Given the description of an element on the screen output the (x, y) to click on. 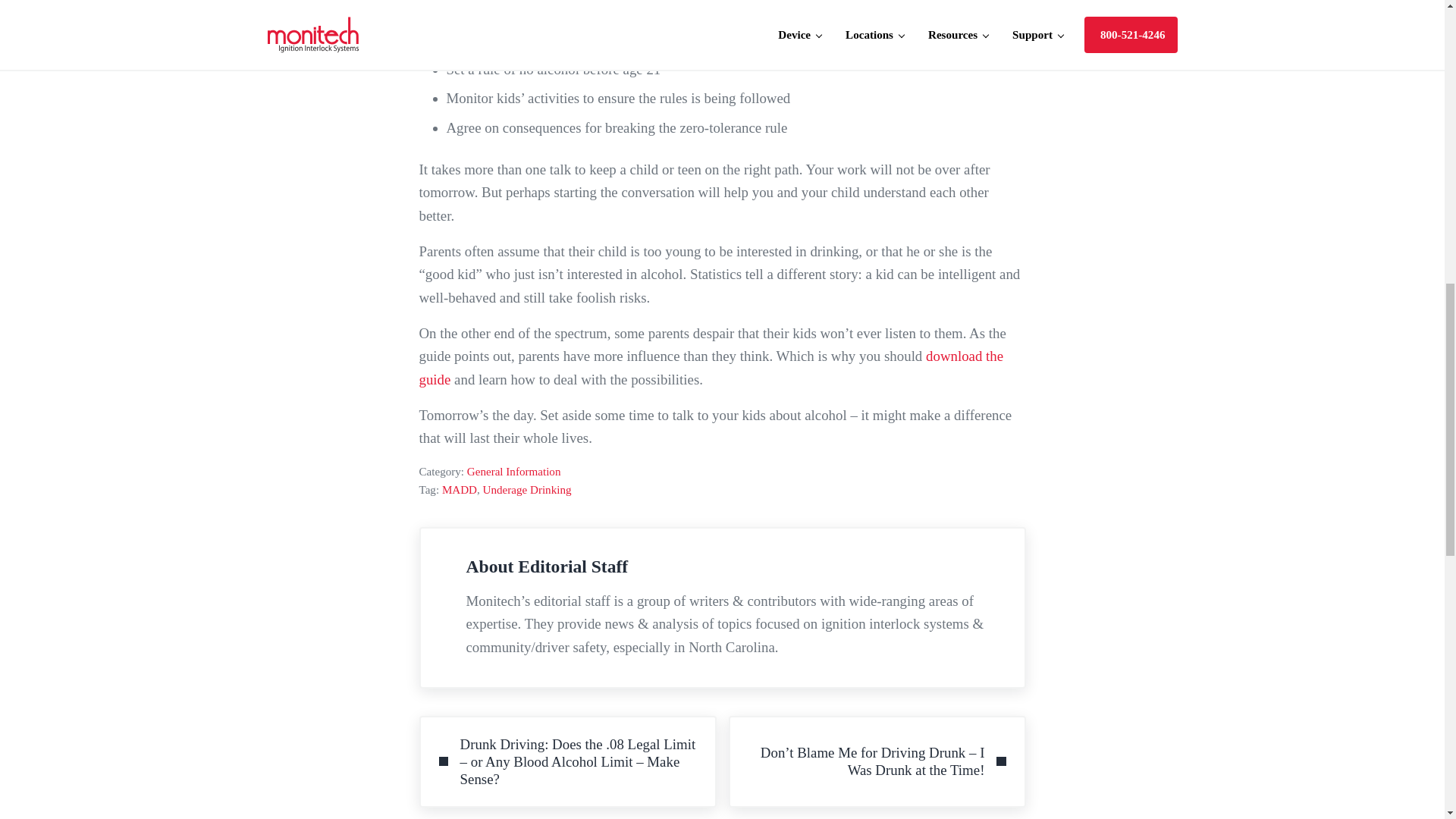
General Information (513, 471)
download the guide (498, 10)
MADD (459, 490)
download the guide (711, 367)
Underage Drinking (527, 490)
